Given the description of an element on the screen output the (x, y) to click on. 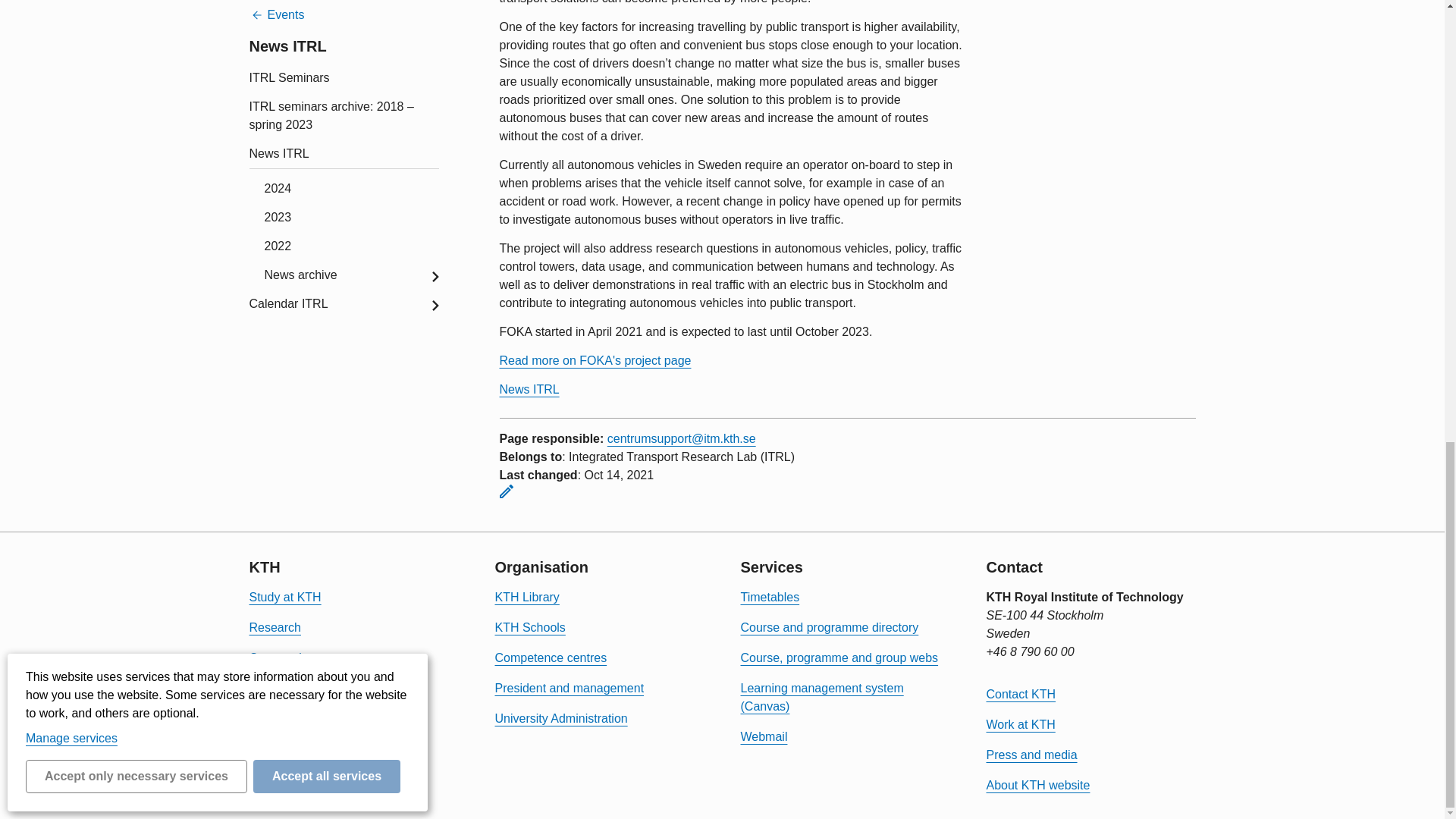
News ITRL (529, 389)
About KTH (277, 687)
Study at KTH (284, 596)
News ITRL (529, 389)
Edit this page (505, 490)
Cooperation (281, 657)
Read more on FOKA's project page (594, 359)
Research (273, 626)
